Given the description of an element on the screen output the (x, y) to click on. 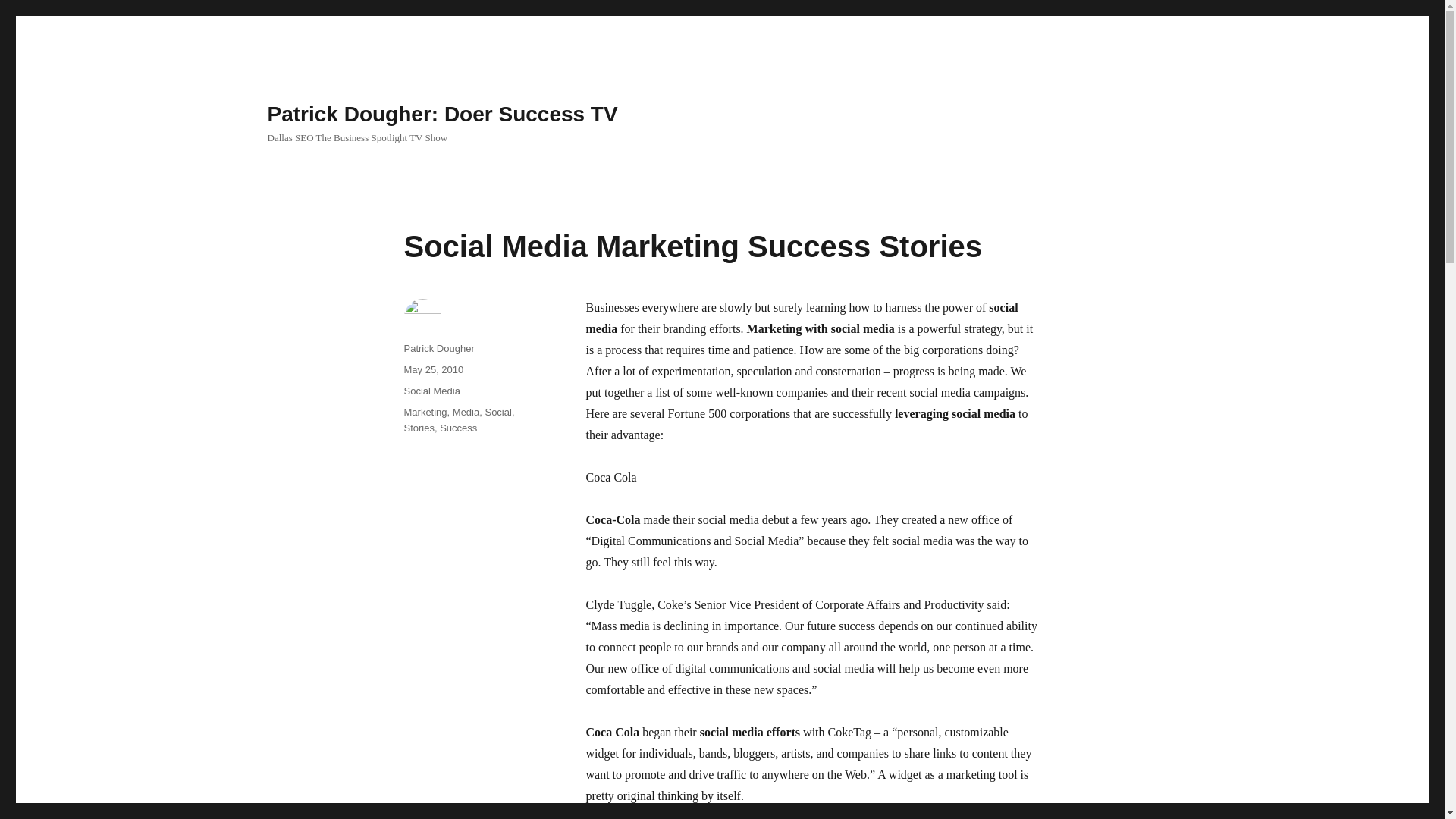
May 25, 2010 (433, 369)
Stories (418, 428)
Media (465, 411)
Marketing (424, 411)
Patrick Dougher (438, 348)
Patrick Dougher: Doer Success TV (441, 114)
Social Media (431, 390)
Social (497, 411)
Success (458, 428)
